Given the description of an element on the screen output the (x, y) to click on. 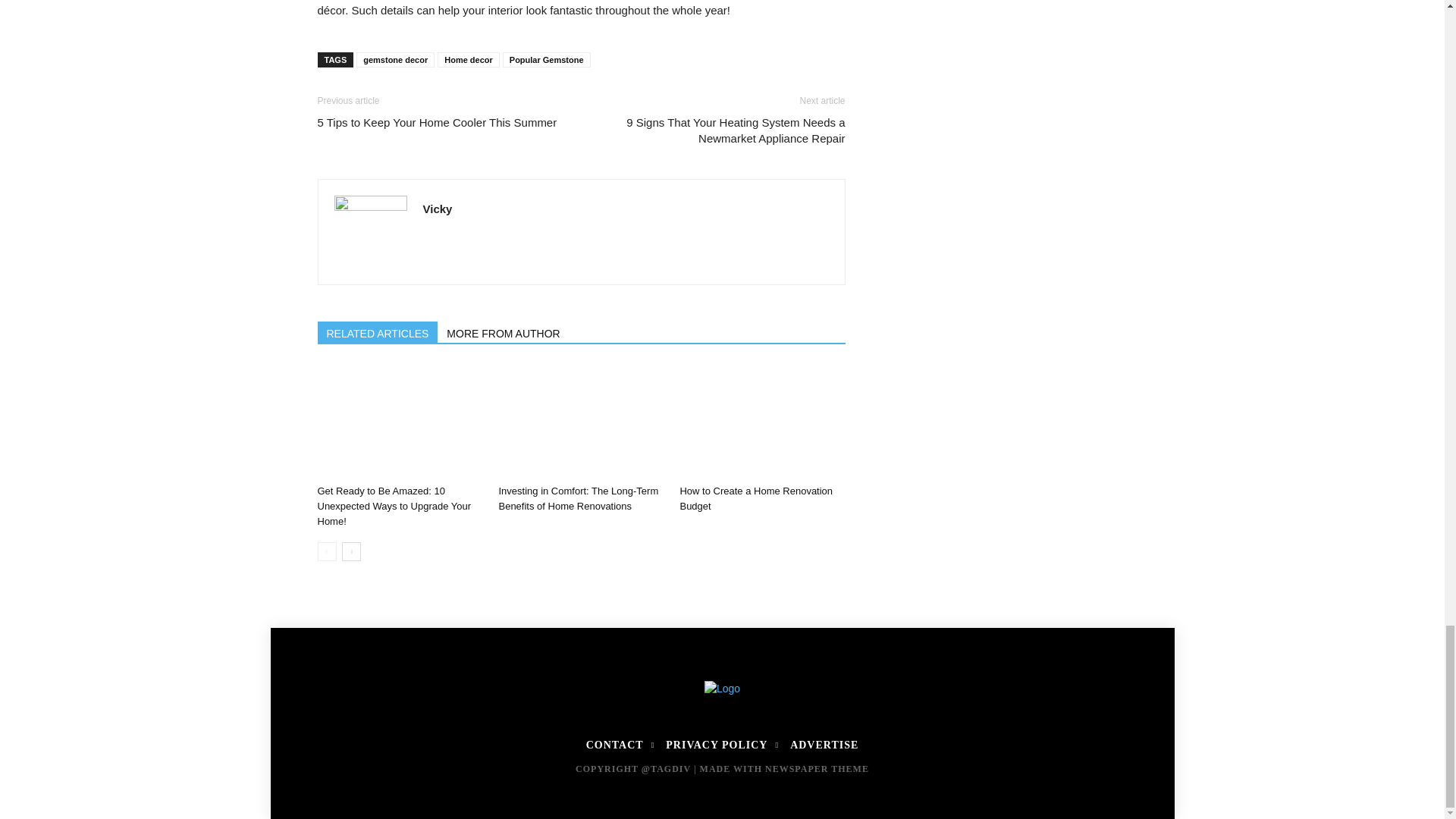
How to Create a Home Renovation Budget (761, 421)
How to Create a Home Renovation Budget (755, 498)
